Given the description of an element on the screen output the (x, y) to click on. 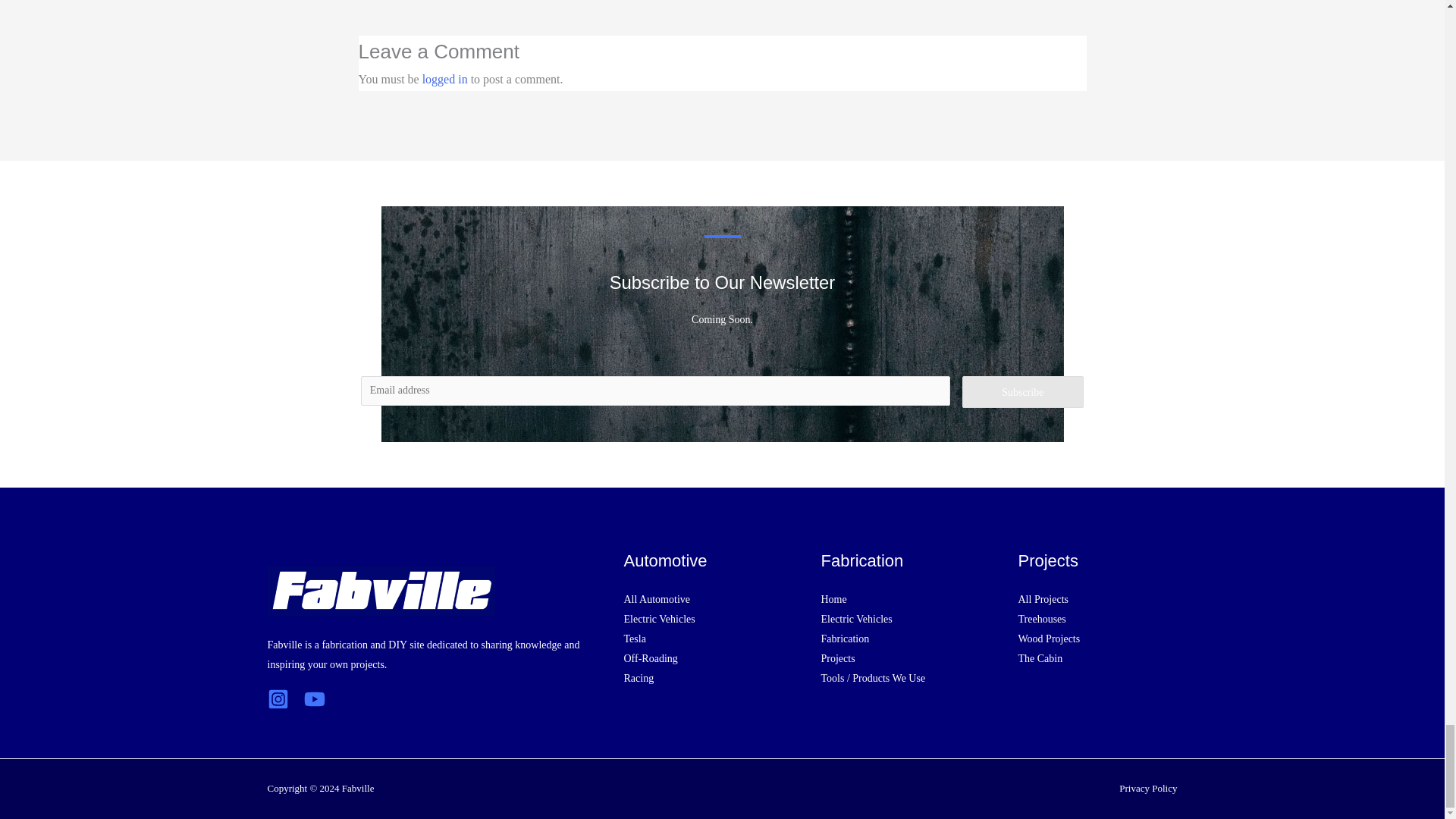
All Projects (1042, 599)
Home (833, 599)
Fabrication (845, 638)
Electric Vehicles (856, 618)
Racing (638, 677)
Electric Vehicles (658, 618)
logged in (444, 78)
wpforms-submit (1022, 391)
Off-Roading (650, 658)
All Automotive (656, 599)
Tesla (634, 638)
Projects (837, 658)
